Given the description of an element on the screen output the (x, y) to click on. 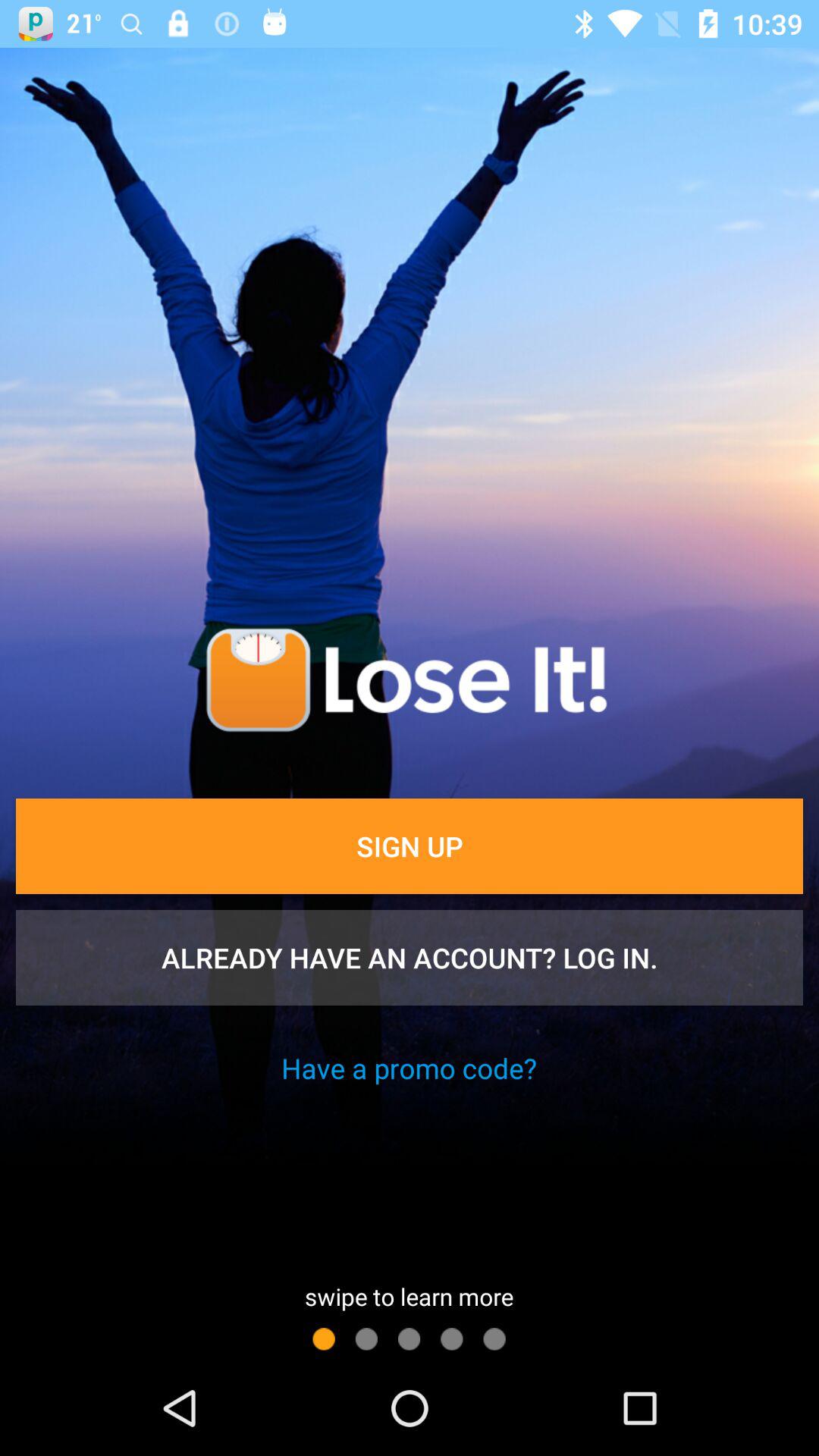
select icon below the already have an (408, 1067)
